Given the description of an element on the screen output the (x, y) to click on. 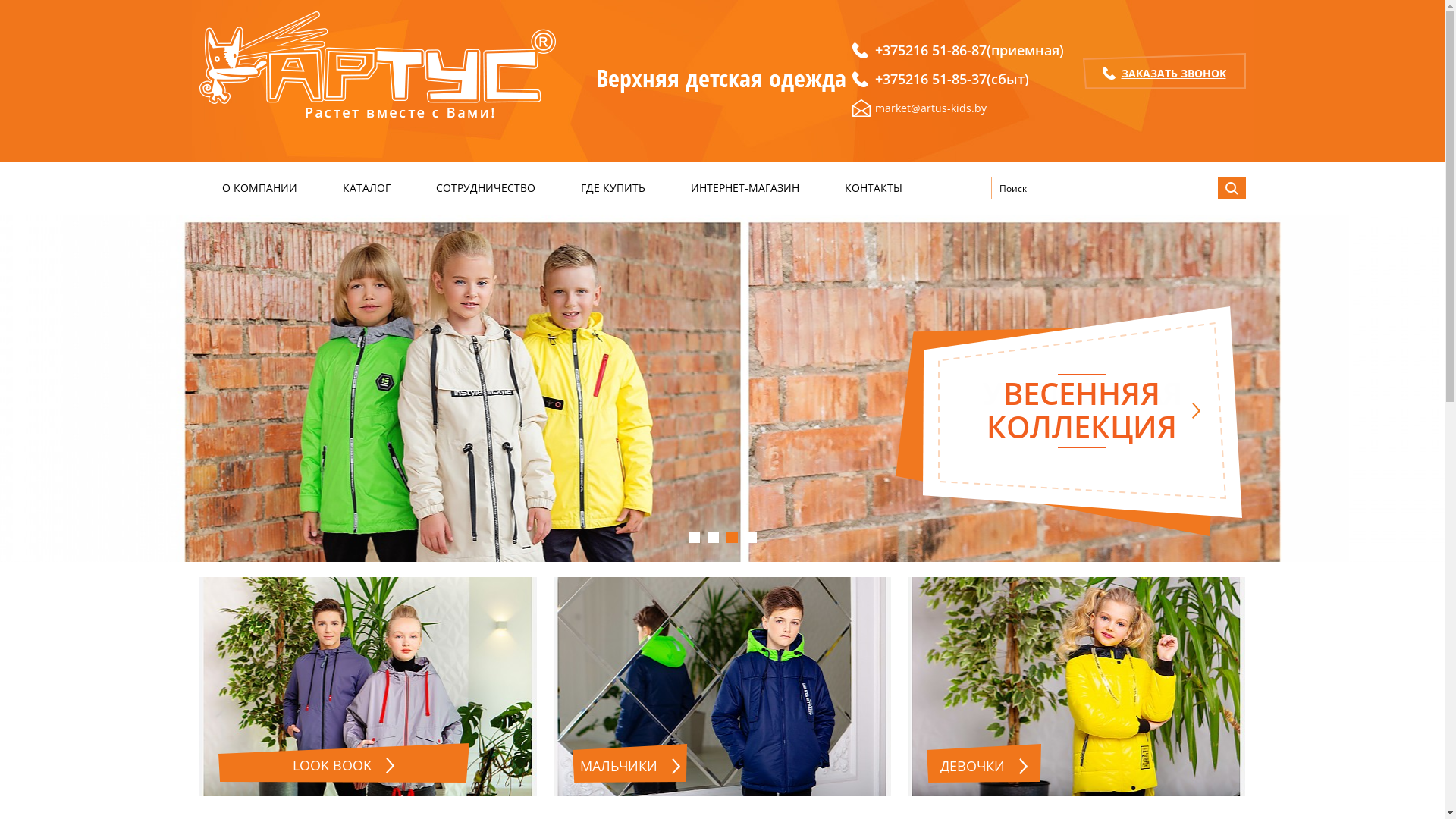
4 Element type: text (750, 536)
3 Element type: text (731, 536)
2 Element type: text (712, 536)
1 Element type: text (693, 536)
LOOK BOOK Element type: text (343, 762)
market@artus-kids.by Element type: text (957, 107)
